Given the description of an element on the screen output the (x, y) to click on. 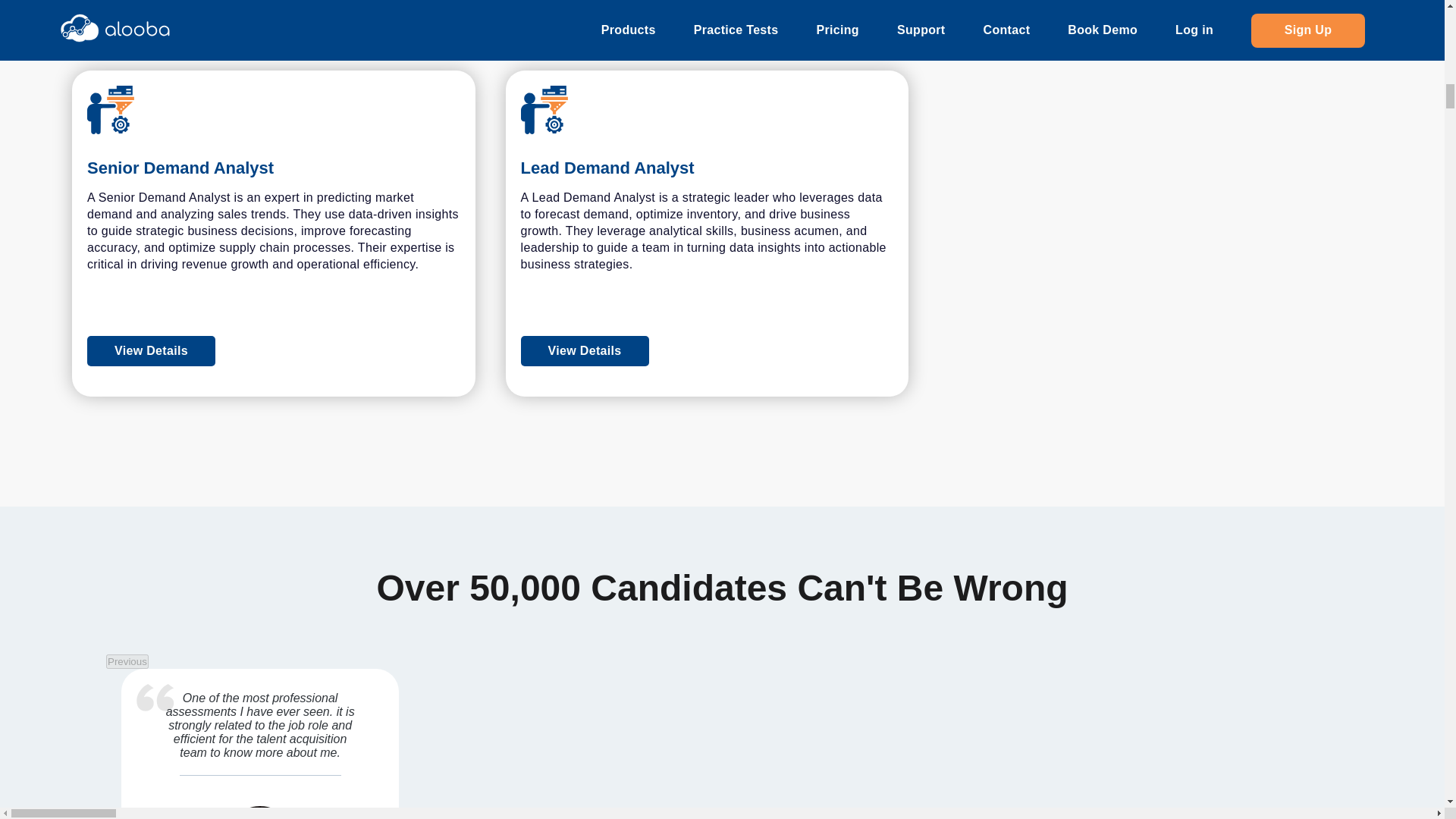
View Details (585, 350)
View Details (1139, 4)
View Details (1017, 4)
View Details (151, 4)
View Details (273, 4)
View Details (585, 4)
View Details (707, 350)
Previous (127, 661)
View Details (707, 4)
View Details (273, 350)
View Details (151, 350)
